Given the description of an element on the screen output the (x, y) to click on. 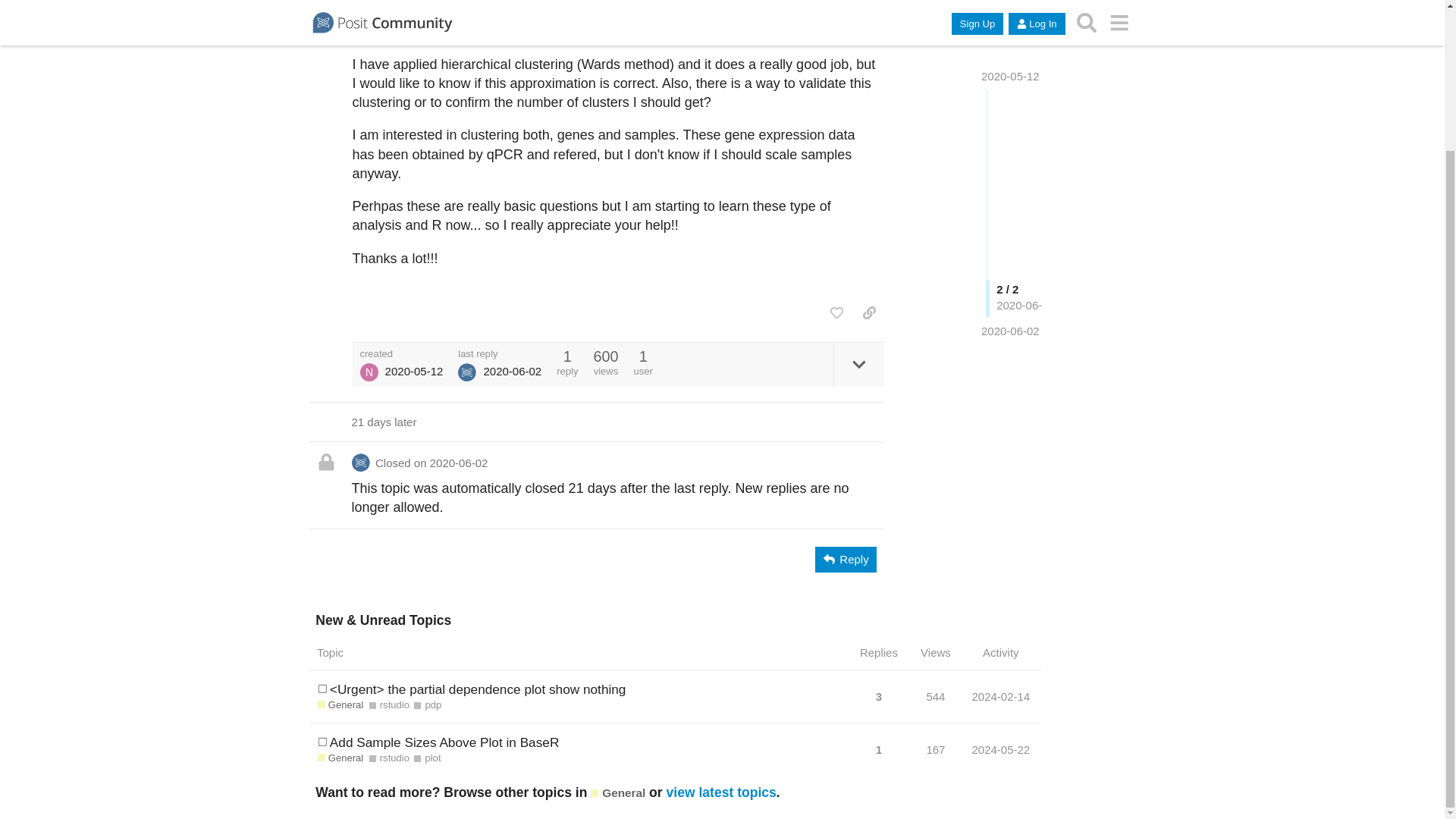
plot (427, 757)
Reply (846, 559)
novolo (368, 372)
General (618, 792)
rstudio (389, 704)
Add Sample Sizes Above Plot in BaseR (444, 742)
like this post (836, 312)
Jun 2, 2020 11:19 pm (1010, 204)
expand topic details (857, 364)
pdp (427, 704)
system (467, 372)
view latest topics (721, 792)
General (339, 704)
General (339, 757)
last reply (499, 353)
